Given the description of an element on the screen output the (x, y) to click on. 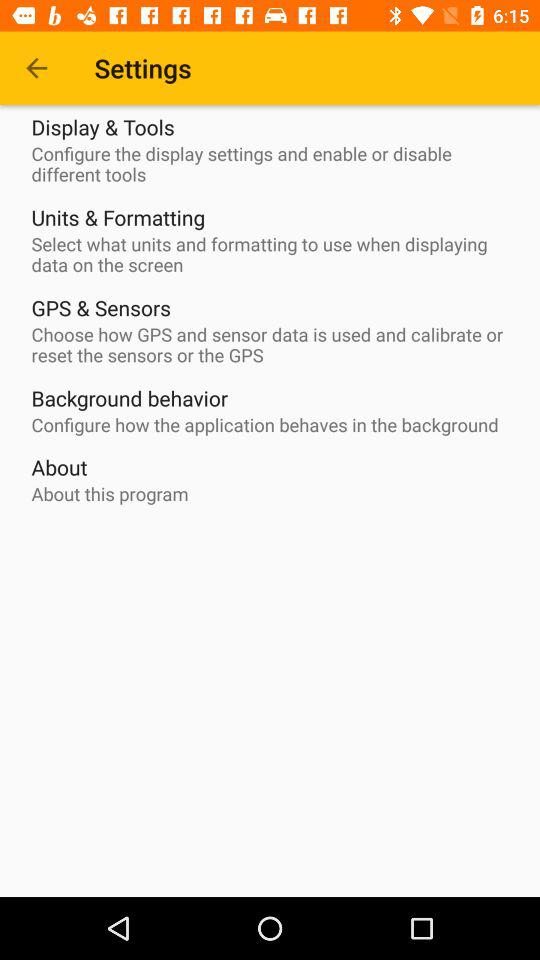
press the icon above gps & sensors (275, 254)
